Given the description of an element on the screen output the (x, y) to click on. 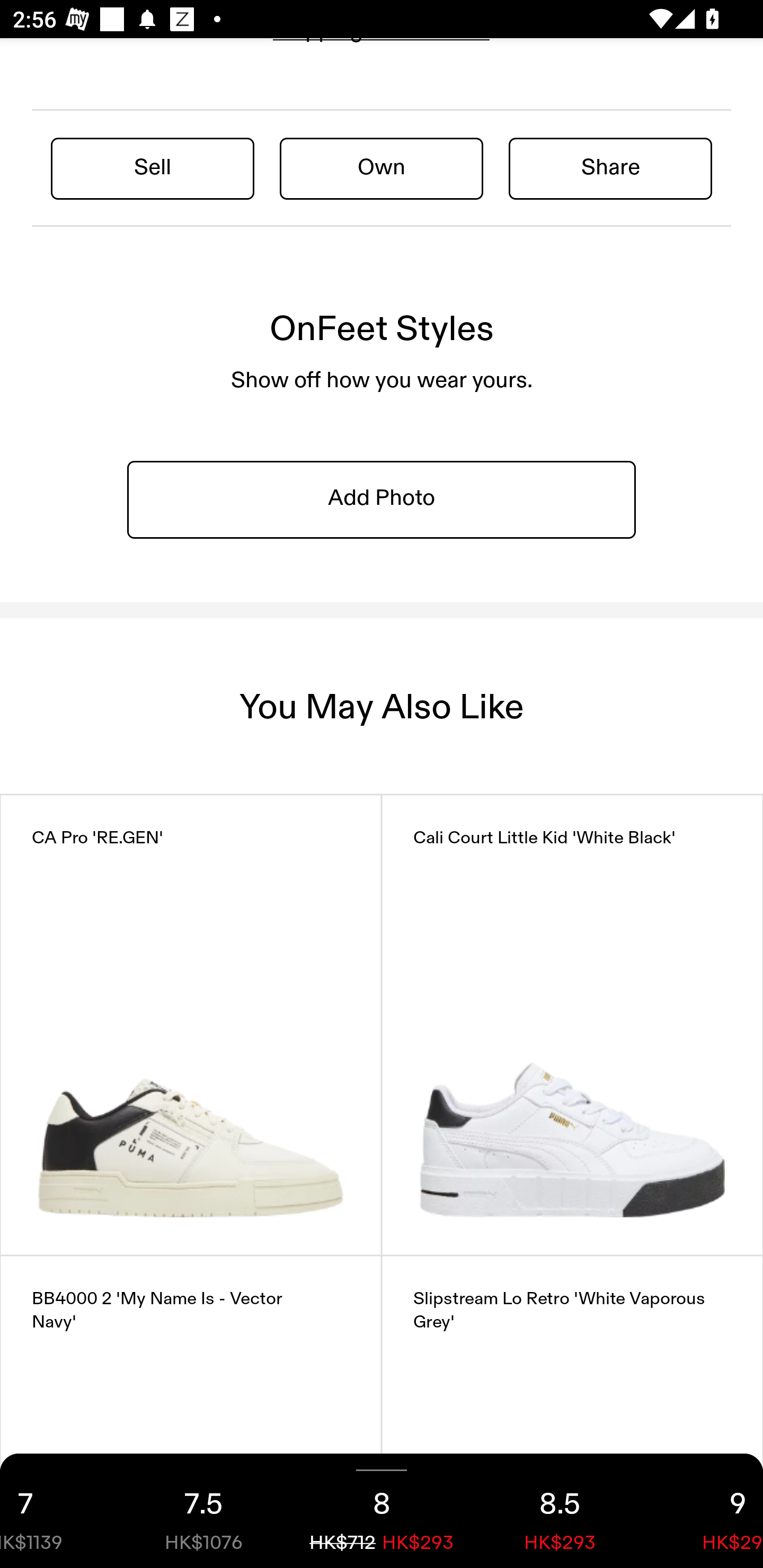
Sell (152, 167)
Own (381, 167)
Share (609, 167)
Add Photo (381, 499)
CA Pro 'RE.GEN' (190, 1024)
Cali Court Little Kid 'White Black' (572, 1024)
BB4000 2 'My Name Is - Vector Navy' (190, 1411)
Slipstream Lo Retro 'White Vaporous Grey' (572, 1411)
7 HK$1139 (57, 1510)
7.5 HK$1076 (203, 1510)
8 HK$712 HK$293 (381, 1510)
8.5 HK$293 (559, 1510)
9 HK$293 (705, 1510)
